Given the description of an element on the screen output the (x, y) to click on. 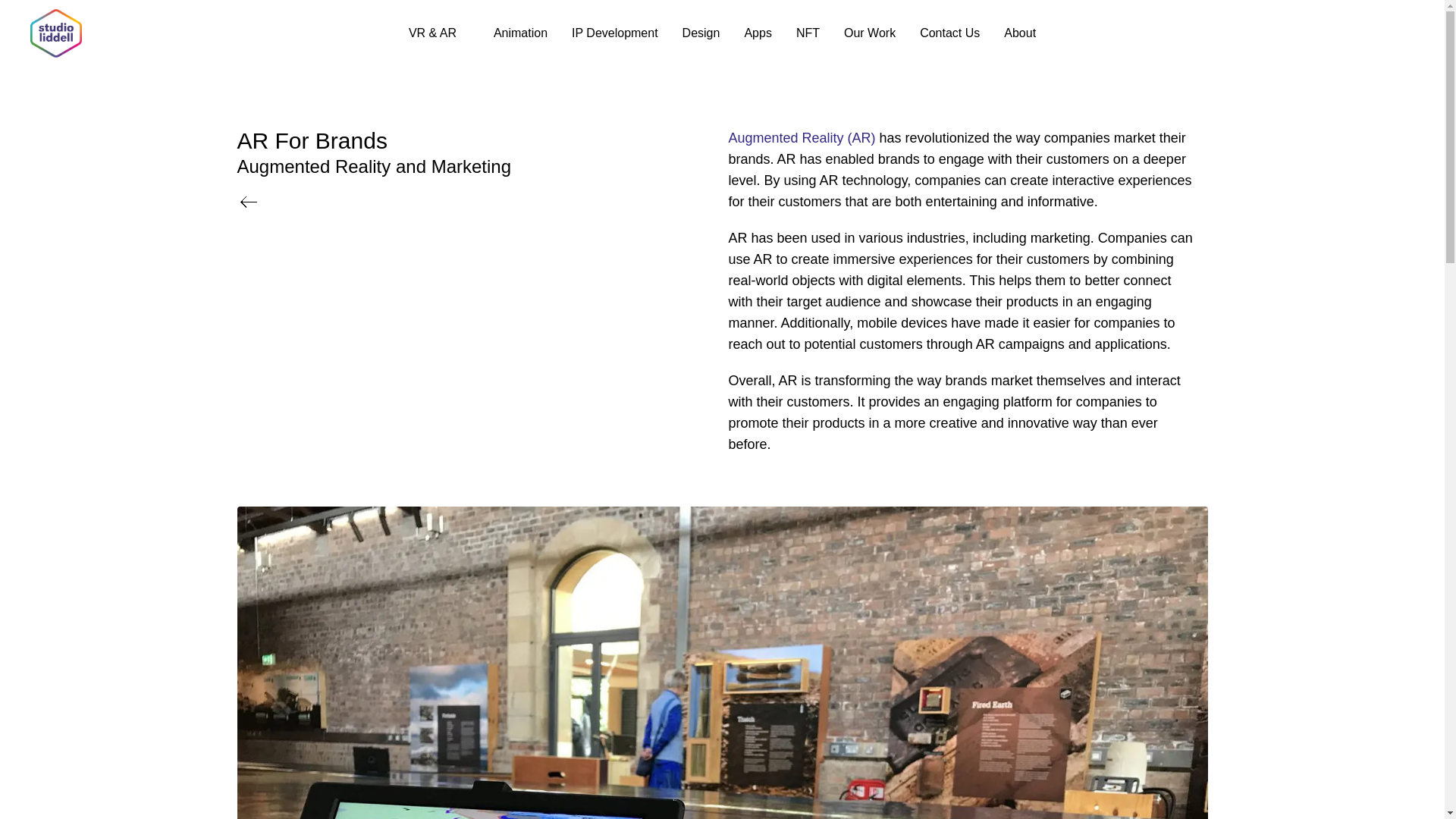
About (1019, 33)
Contact Us (949, 33)
IP Development (615, 33)
Our Work (869, 33)
Design (701, 33)
NFT (807, 33)
Animation (520, 33)
Apps (757, 33)
